Given the description of an element on the screen output the (x, y) to click on. 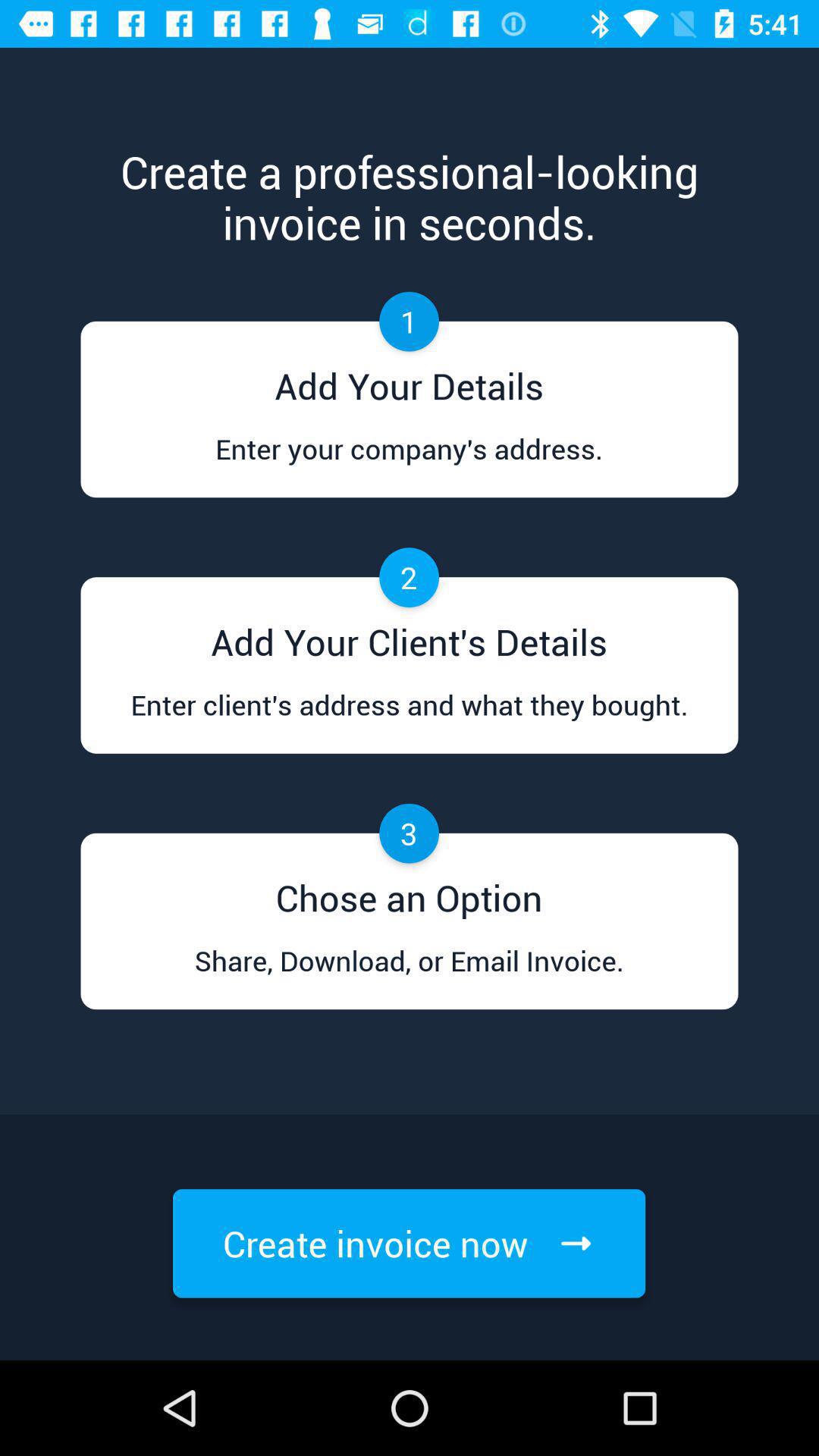
turn on the share download or icon (408, 975)
